Given the description of an element on the screen output the (x, y) to click on. 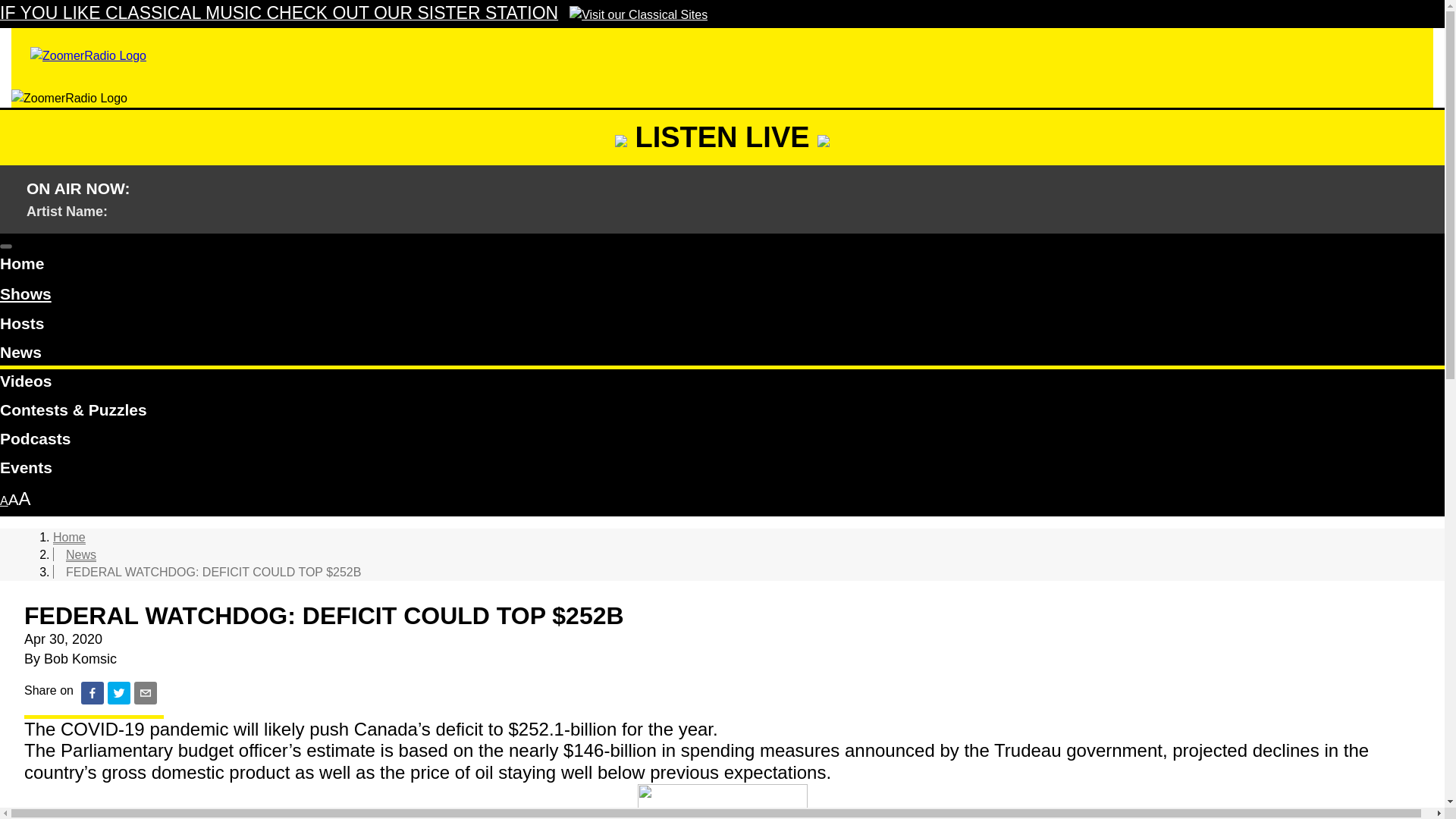
Home (68, 537)
IF YOU LIKE CLASSICAL MUSIC CHECK OUT OUR SISTER STATION (353, 14)
News (80, 554)
Podcasts (722, 440)
Hosts (722, 326)
Shows (25, 294)
News (722, 354)
Videos (722, 383)
Events (722, 469)
Home (722, 265)
